Given the description of an element on the screen output the (x, y) to click on. 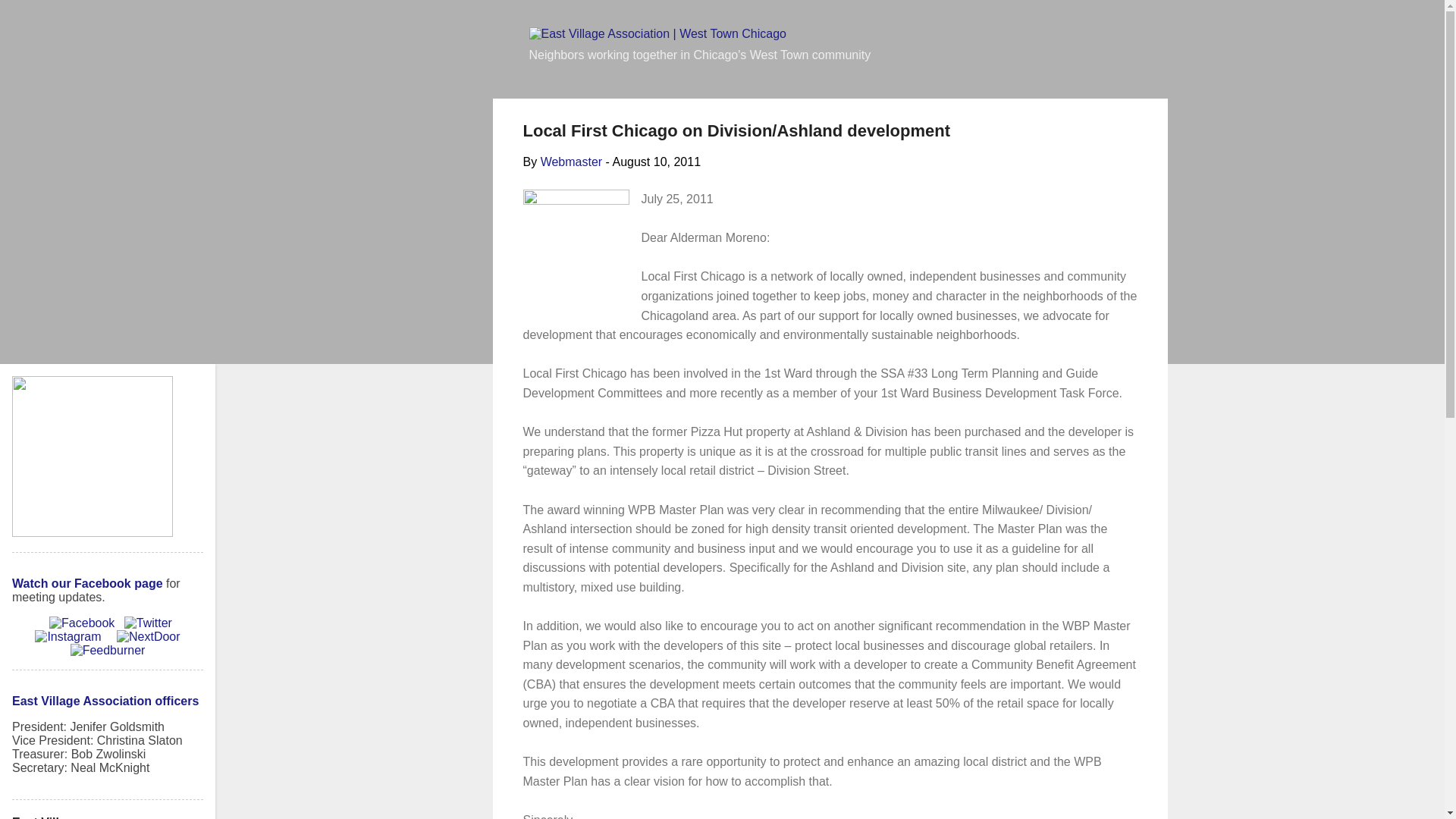
Search (32, 18)
Watch our Facebook page (87, 583)
Webmaster (571, 161)
August 10, 2011 (655, 161)
author profile (571, 161)
permanent link (655, 161)
